Given the description of an element on the screen output the (x, y) to click on. 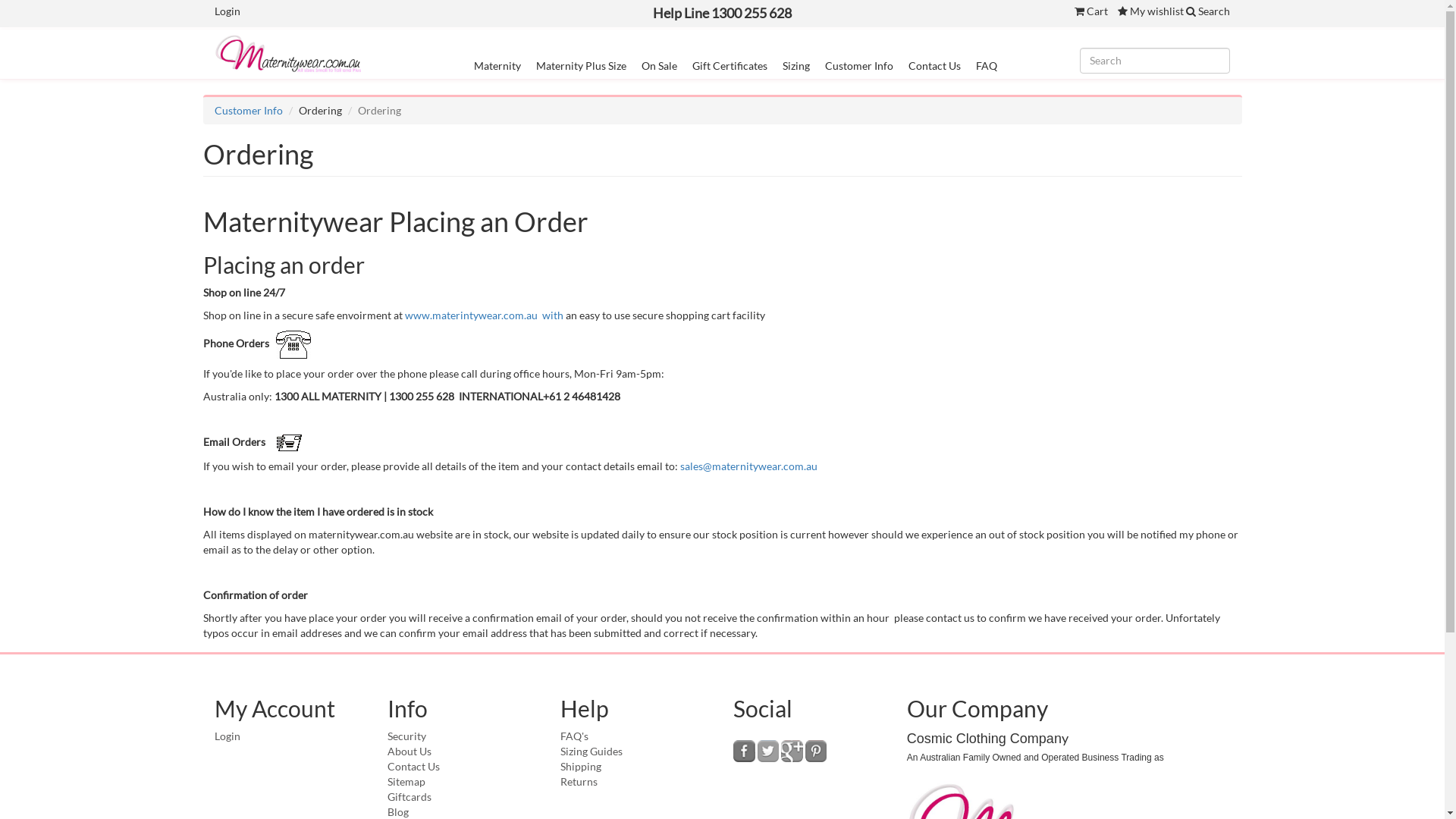
Contact Us Element type: text (413, 765)
Google Plus Element type: text (792, 751)
Shipping Element type: text (580, 765)
www.materintywear.com.au  with Element type: text (483, 314)
Apply Element type: text (23, 12)
Facebook Element type: text (744, 751)
Cart Element type: text (1090, 10)
Maternity Plus Size Element type: text (581, 65)
FAQ Element type: text (986, 65)
Customer Info Element type: text (247, 109)
Home Element type: hover (294, 53)
Contact Us Element type: text (934, 65)
FAQ's Element type: text (574, 735)
Security Element type: text (406, 735)
Login Element type: text (226, 735)
sales@maternitywear.com.au Element type: text (747, 465)
Sizing Guides Element type: text (591, 750)
My wishlist Element type: text (1150, 10)
Blog Element type: text (397, 811)
About Us Element type: text (409, 750)
On Sale Element type: text (659, 65)
Search Element type: text (1208, 10)
Sizing Element type: text (795, 65)
Sitemap Element type: text (406, 781)
Maternity Element type: text (496, 65)
Skip to main content Element type: text (0, 0)
Giftcards Element type: text (409, 796)
Pinterest Element type: text (816, 751)
Twitter Element type: text (768, 751)
Gift Certificates Element type: text (729, 65)
Returns Element type: text (578, 781)
Login Element type: text (226, 10)
Customer Info Element type: text (859, 65)
